Given the description of an element on the screen output the (x, y) to click on. 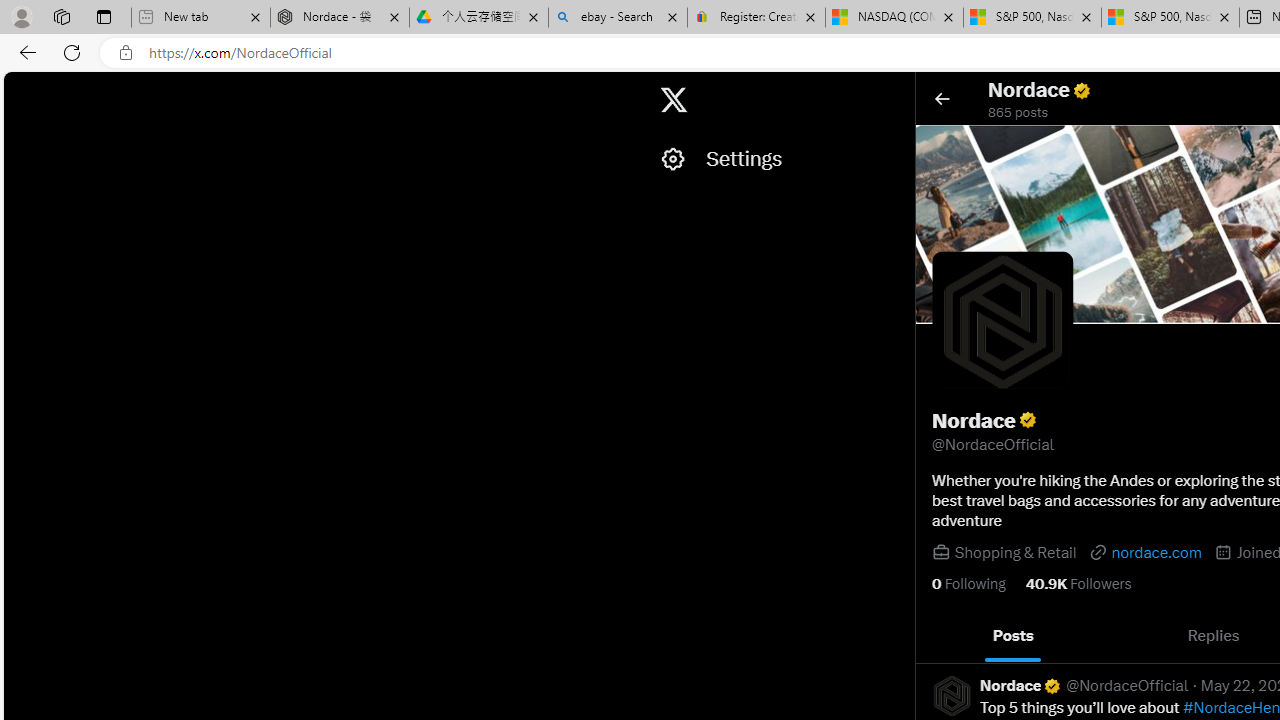
Nordace Verified account (1021, 685)
Verified account (1052, 686)
40.9K Followers (1078, 583)
S&P 500, Nasdaq end lower, weighed by Nvidia dip | Watch (1170, 17)
Square profile picture (951, 695)
Square profile picture and Opens profile photo (1003, 322)
Square profile picture and Opens profile photo (1002, 321)
ebay - Search (618, 17)
Shopping & Retail (1014, 551)
Settings (777, 159)
X (673, 99)
